Given the description of an element on the screen output the (x, y) to click on. 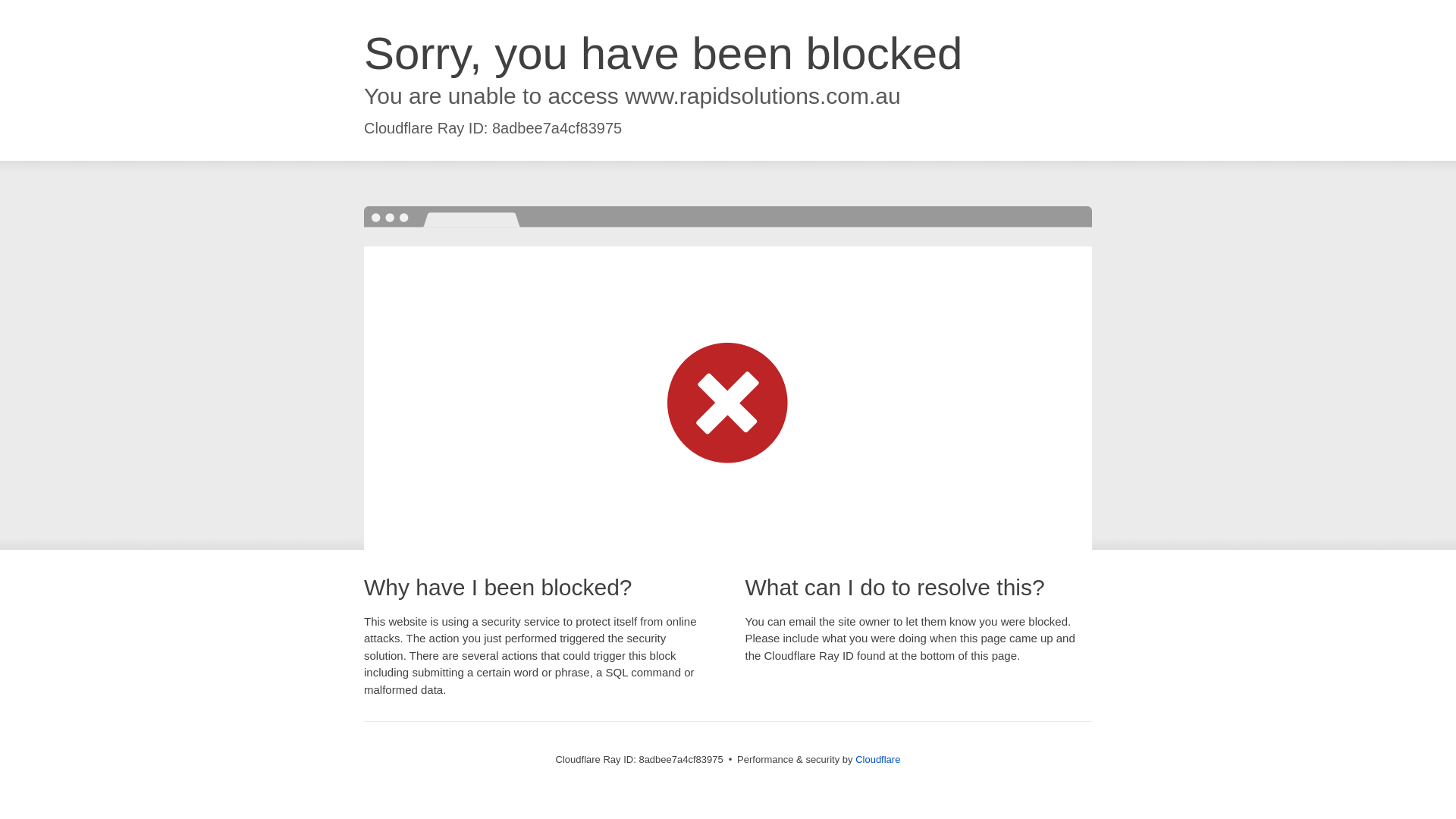
Cloudflare (877, 758)
